Given the description of an element on the screen output the (x, y) to click on. 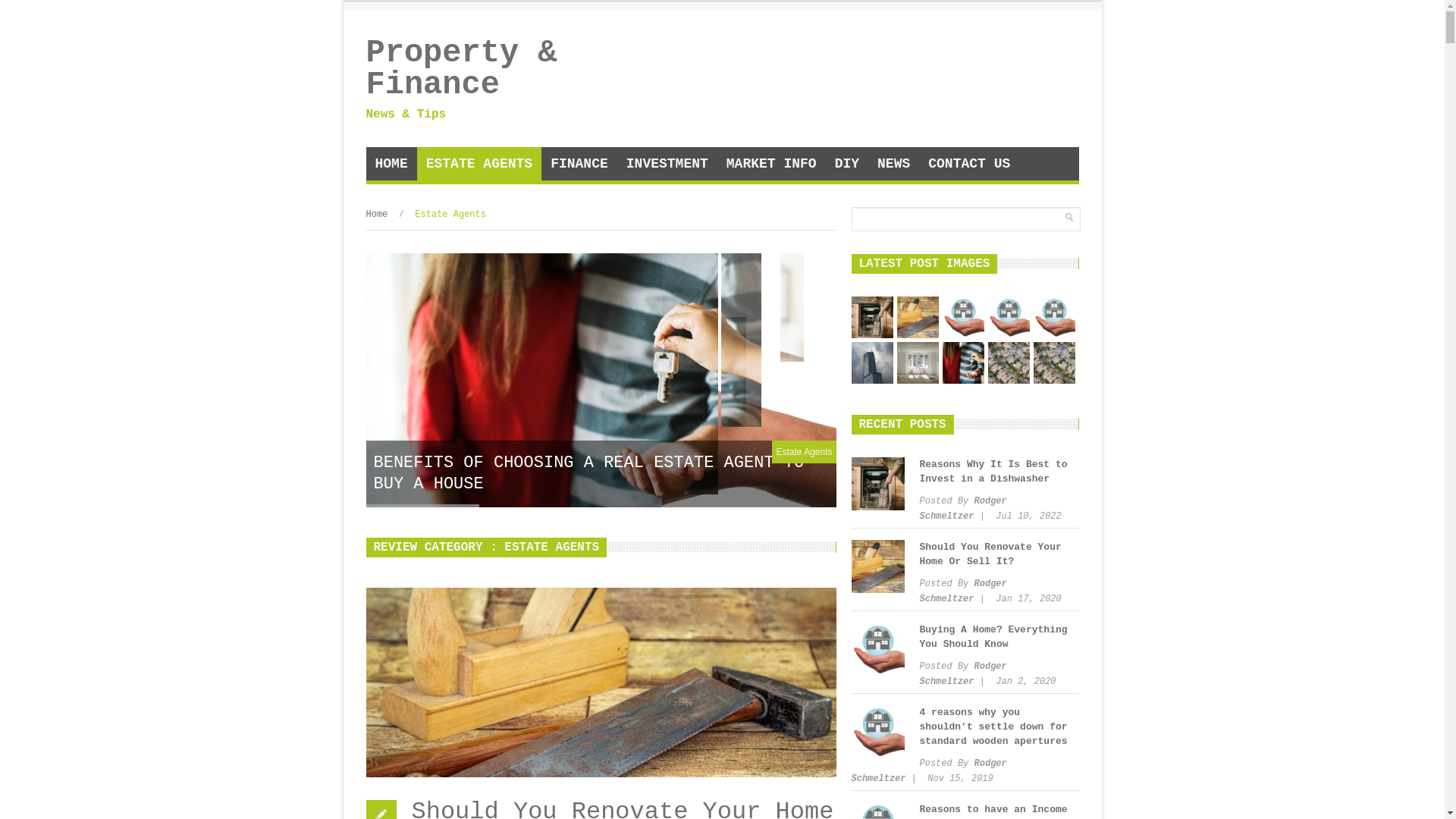
News & Tips Element type: text (479, 110)
Buying A Home? Everything You Should Know Element type: text (992, 636)
Rodger Schmeltzer Element type: text (962, 508)
HOME Element type: text (390, 163)
INVESTMENT Element type: text (667, 163)
Reasons Why It Is Best to Invest in a Dishwasher Element type: text (992, 471)
FINANCE Element type: text (579, 163)
Rodger Schmeltzer Element type: text (962, 591)
Best Commercial Real Estate Properties to Invest In Element type: hover (1008, 362)
Reasons to have an Income Property Element type: hover (1053, 317)
MARKET INFO Element type: text (771, 163)
Property & Finance Element type: text (479, 68)
How Did the Sky Scraper Become Colossus? Element type: hover (871, 362)
ESTATE AGENTS Element type: text (479, 163)
Benefits of Choosing a Real Estate Agent to Buy a House Element type: hover (962, 362)
Does Your Roof Need Repairs? Element type: hover (1053, 362)
NEWS Element type: text (893, 163)
How to Take Better Care Of Your House? Element type: hover (917, 362)
Buying A Home? Everything You Should Know Element type: hover (962, 317)
CONTACT US Element type: text (969, 163)
Rodger Schmeltzer Element type: text (962, 674)
Reasons Why It Is Best to Invest in a Dishwasher Element type: hover (871, 317)
Rodger Schmeltzer Element type: text (928, 771)
Should You Renovate Your Home Or Sell It? Element type: text (989, 554)
DIY Element type: text (846, 163)
BUYING A HOME? EVERYTHING YOU SHOULD KNOW Element type: text (600, 484)
Should You Renovate Your Home Or Sell It? Element type: hover (917, 317)
Home Element type: text (376, 214)
